Given the description of an element on the screen output the (x, y) to click on. 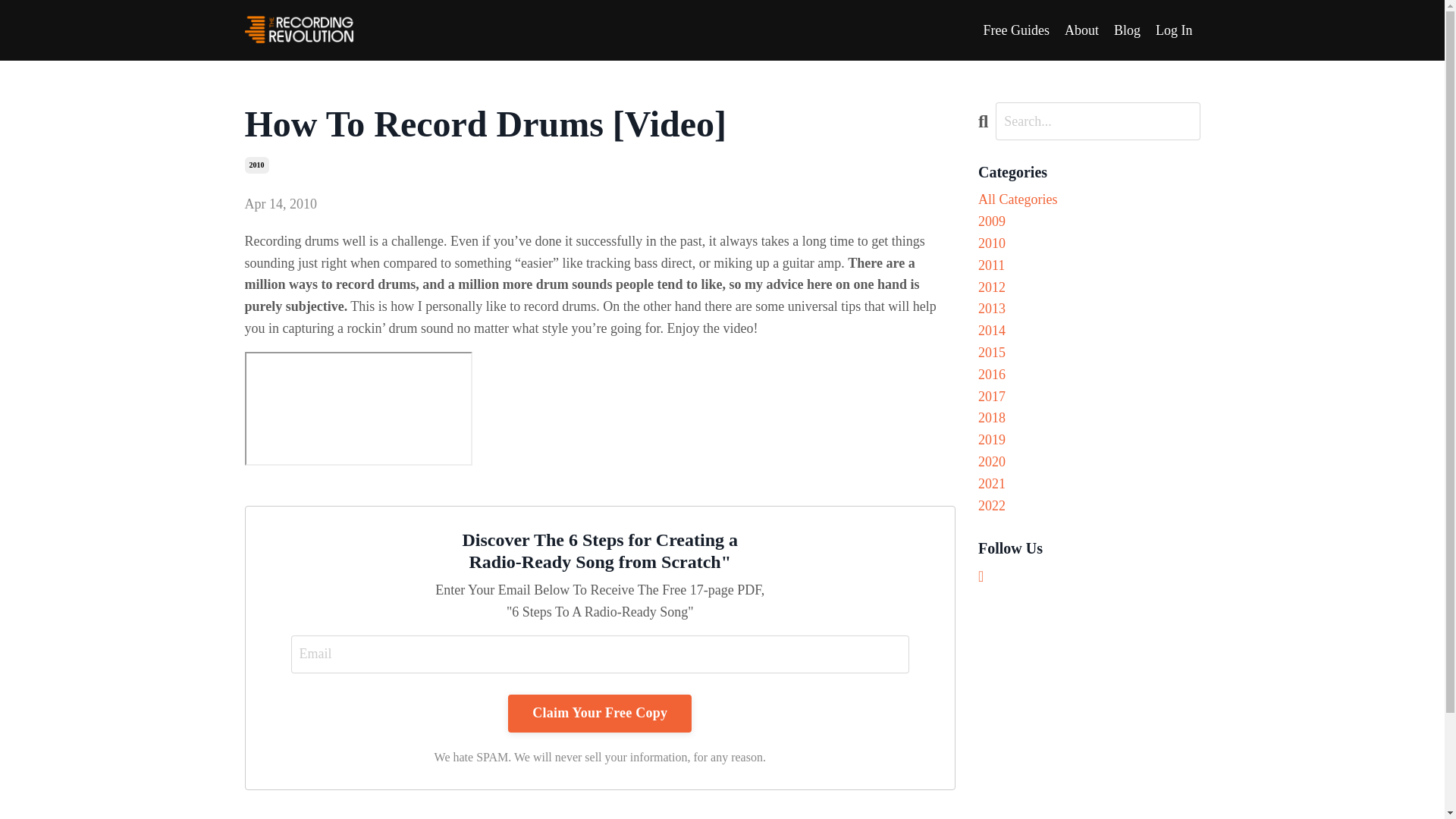
About (1081, 30)
2017 (1088, 396)
Free Guides (1015, 30)
2018 (1088, 418)
2011 (1088, 265)
2020 (1088, 462)
2009 (1088, 221)
2010 (1088, 243)
2021 (1088, 484)
2016 (1088, 374)
